Given the description of an element on the screen output the (x, y) to click on. 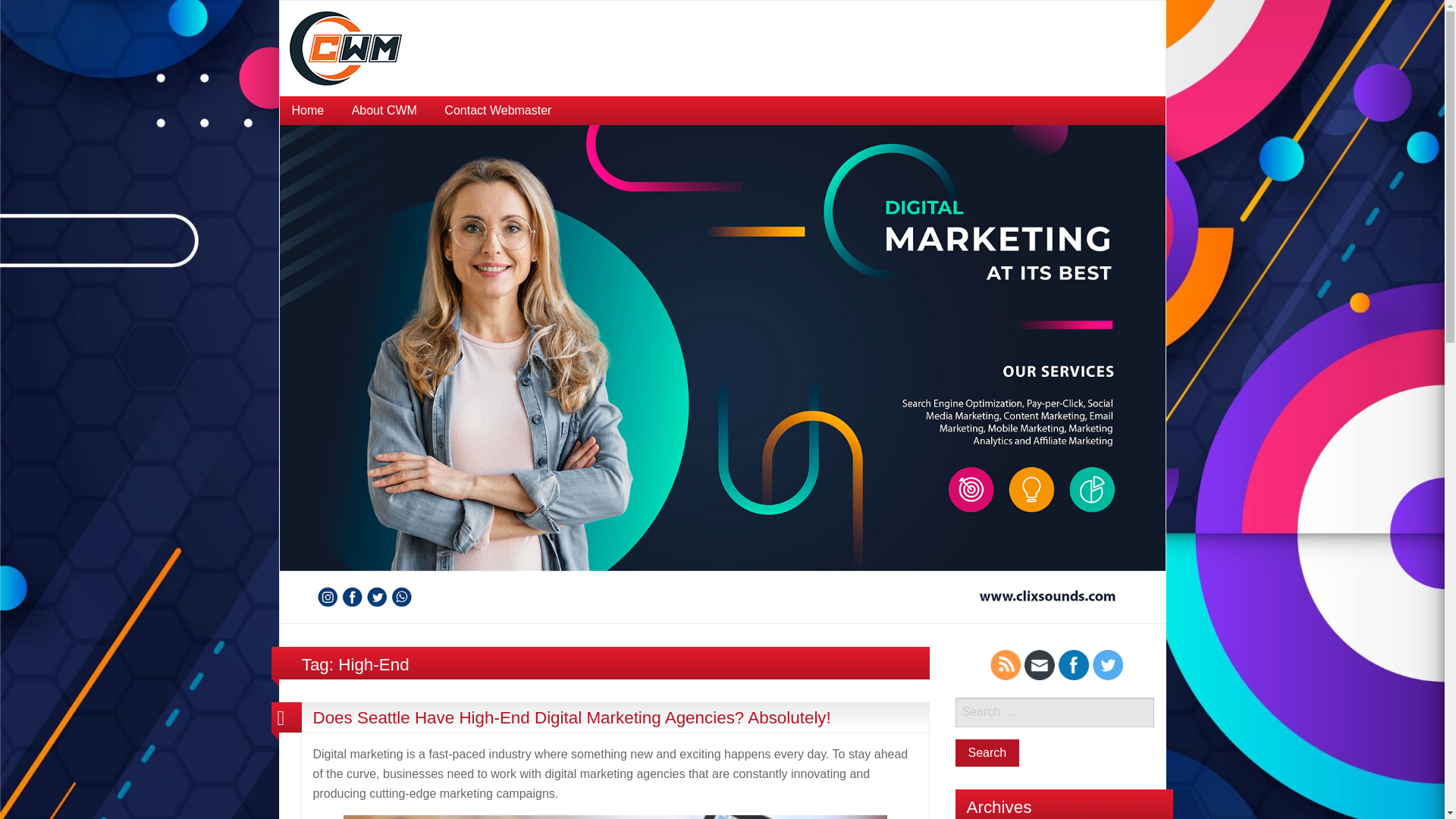
Follow by Email (1038, 665)
Clix Web Marketing (345, 47)
About CWM (384, 110)
Search (987, 752)
RSS (1005, 665)
Search (987, 752)
Facebook (1073, 665)
Home (307, 110)
Clix Web Marketing (721, 373)
Contact Webmaster (497, 110)
Twitter (1107, 665)
Search (987, 752)
